Given the description of an element on the screen output the (x, y) to click on. 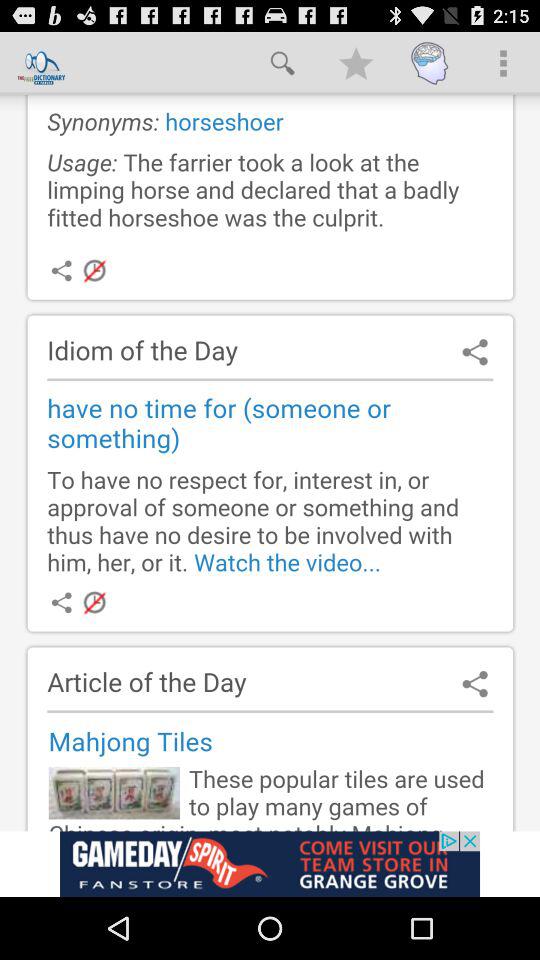
searching information (270, 462)
